Given the description of an element on the screen output the (x, y) to click on. 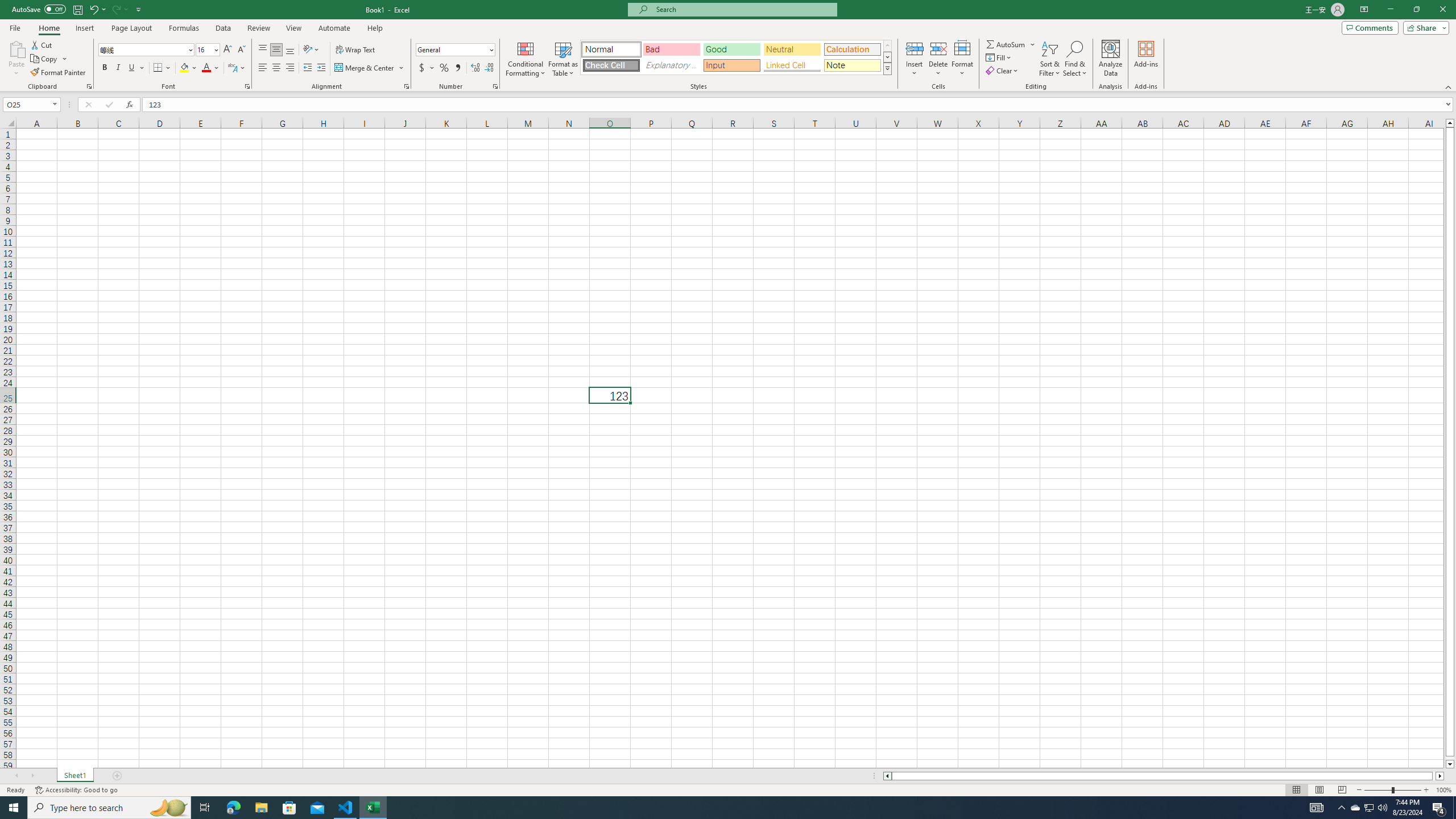
Row up (887, 45)
Top Align (262, 49)
Number Format (455, 49)
Decrease Font Size (240, 49)
Scroll Left (16, 775)
Page Break Preview (1342, 790)
Column right (1440, 775)
Comma Style (457, 67)
Class: NetUIScrollBar (1163, 775)
Align Left (262, 67)
Cell Styles (887, 68)
Review (258, 28)
Format Cell Alignment (405, 85)
Office Clipboard... (88, 85)
